Given the description of an element on the screen output the (x, y) to click on. 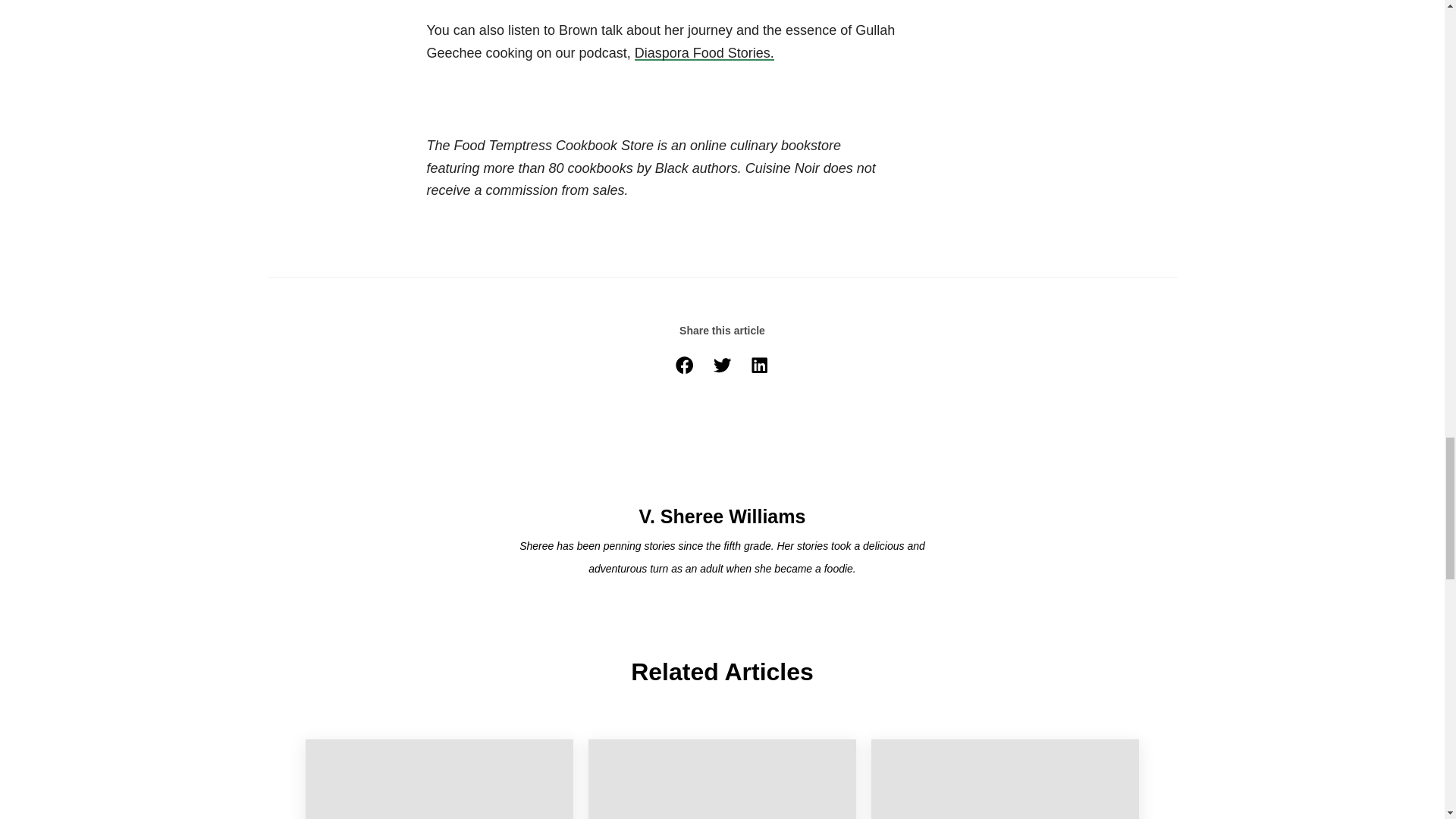
Southern Cooking Global Flavors (438, 779)
View All posts by V. Sheree Williams (722, 516)
Cooking for the Culture (1004, 779)
V. Sheree Williams (721, 461)
Trap Kitchen III: The Art of Street Cocktails (722, 779)
